Given the description of an element on the screen output the (x, y) to click on. 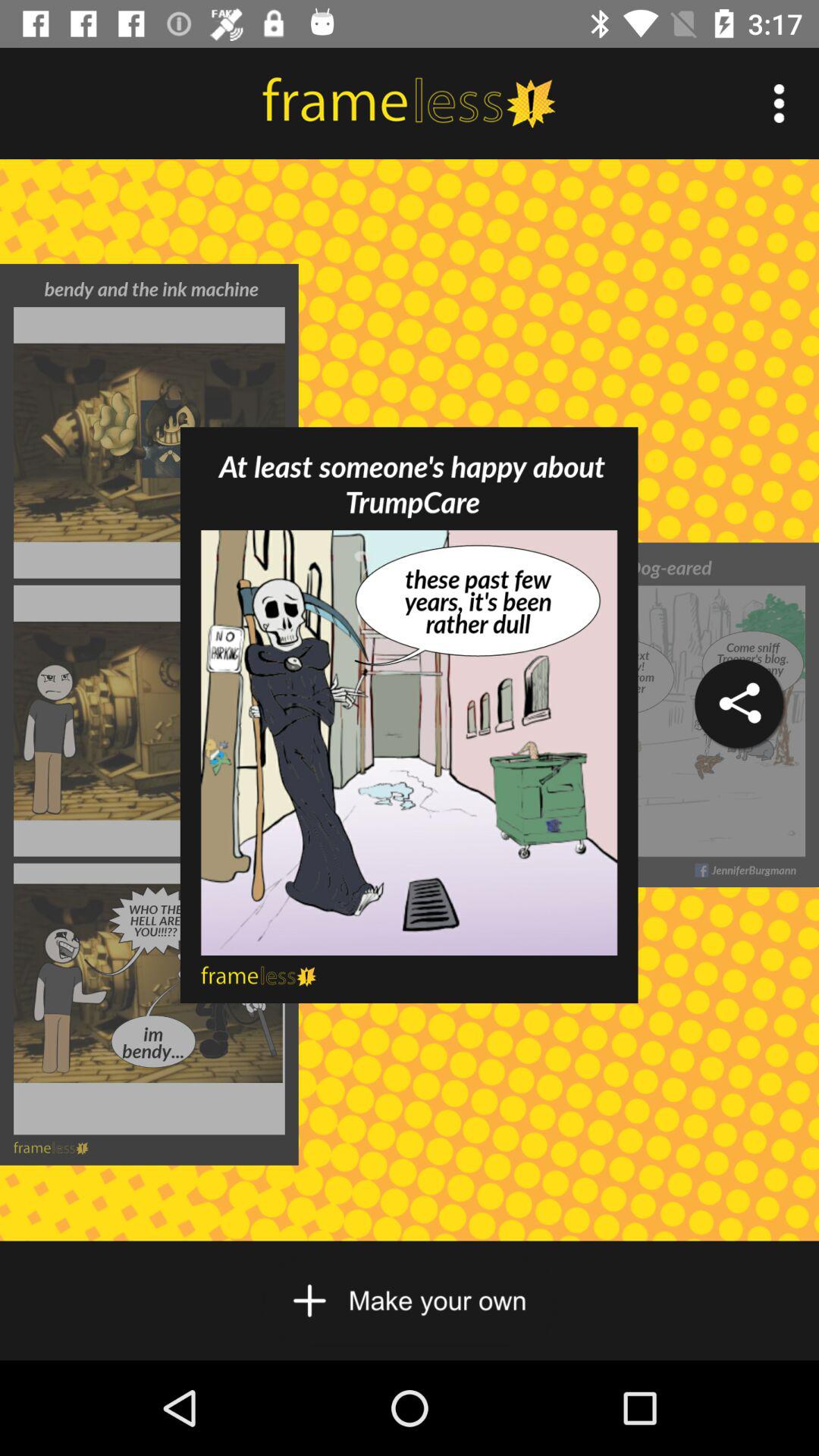
open menu (779, 103)
